Given the description of an element on the screen output the (x, y) to click on. 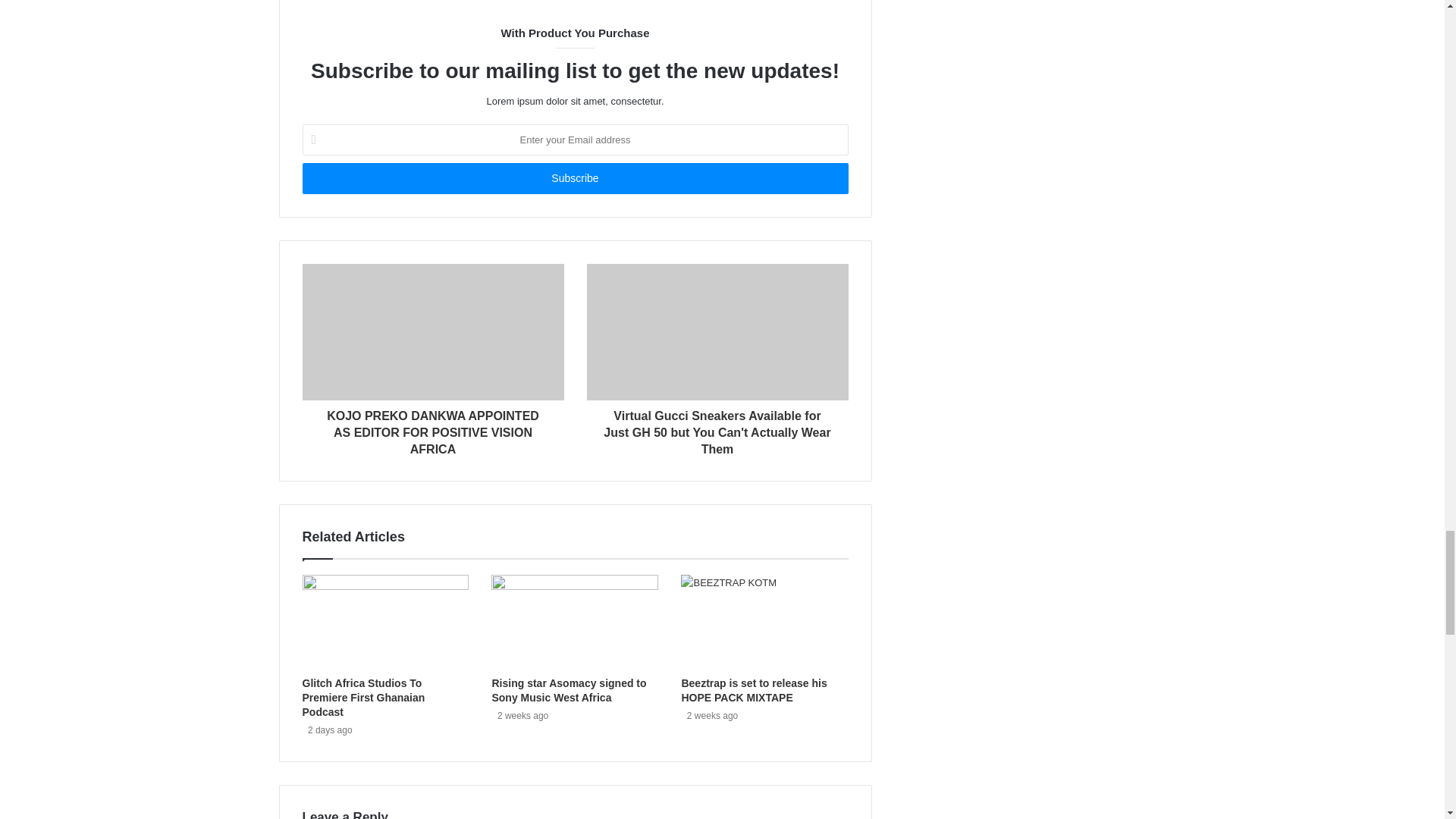
Subscribe (574, 178)
